Given the description of an element on the screen output the (x, y) to click on. 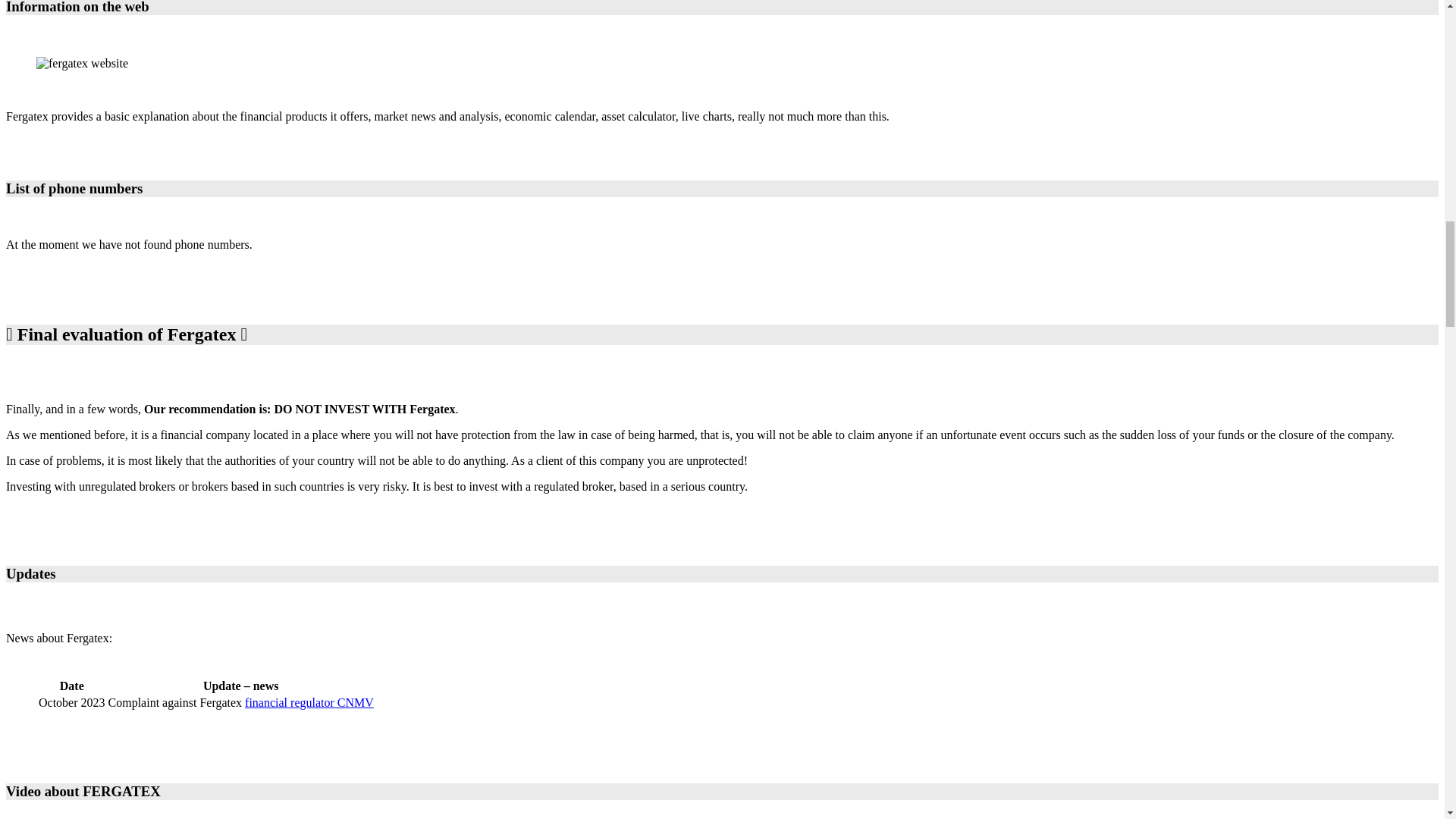
financial regulator CNMV (309, 702)
